Given the description of an element on the screen output the (x, y) to click on. 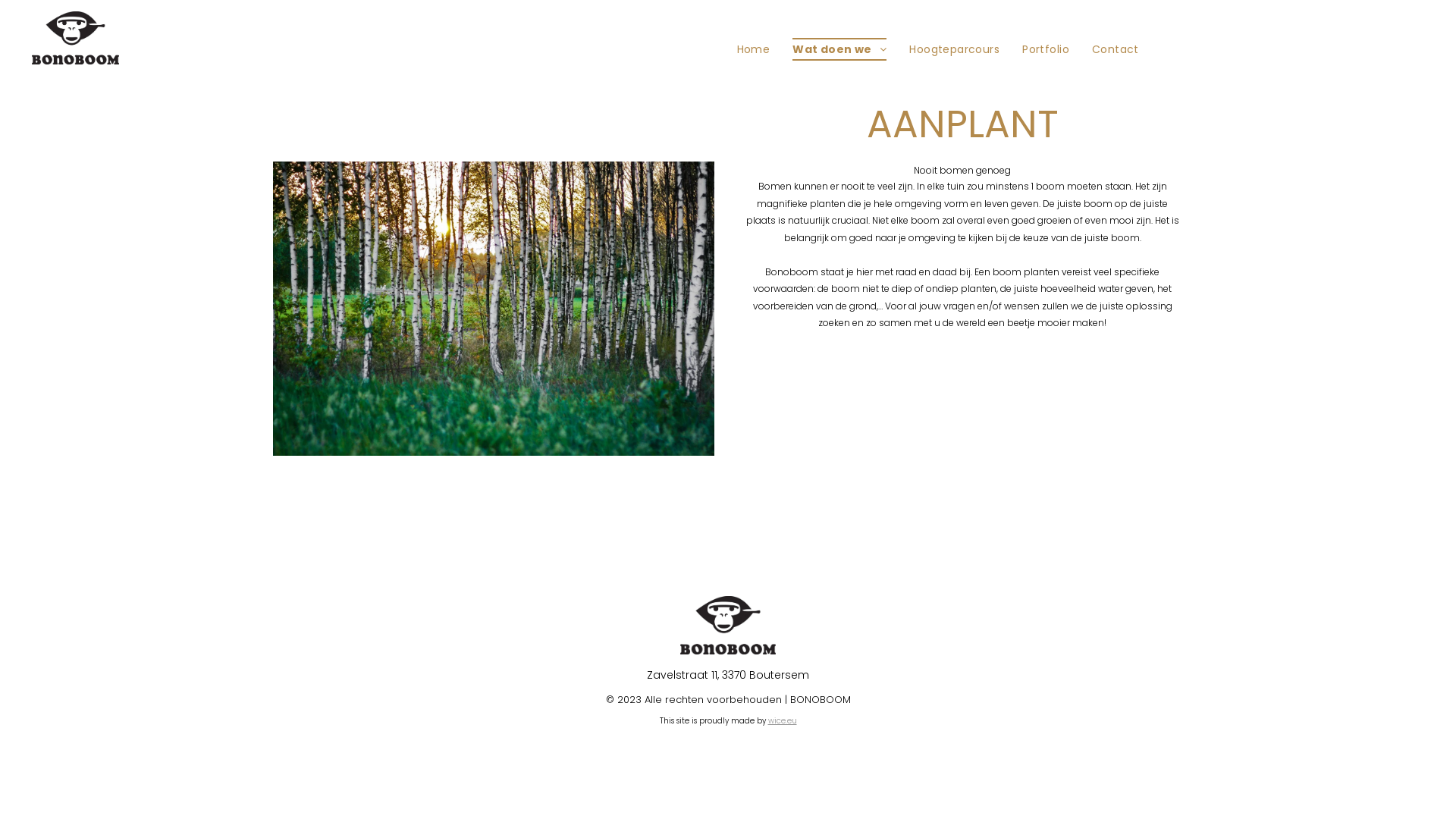
Hoogteparcours Element type: text (953, 49)
Wat doen we Element type: text (839, 49)
Portfolio Element type: text (1045, 49)
wice.eu Element type: text (781, 720)
Contact Element type: text (1115, 49)
Home Element type: text (753, 49)
